Given the description of an element on the screen output the (x, y) to click on. 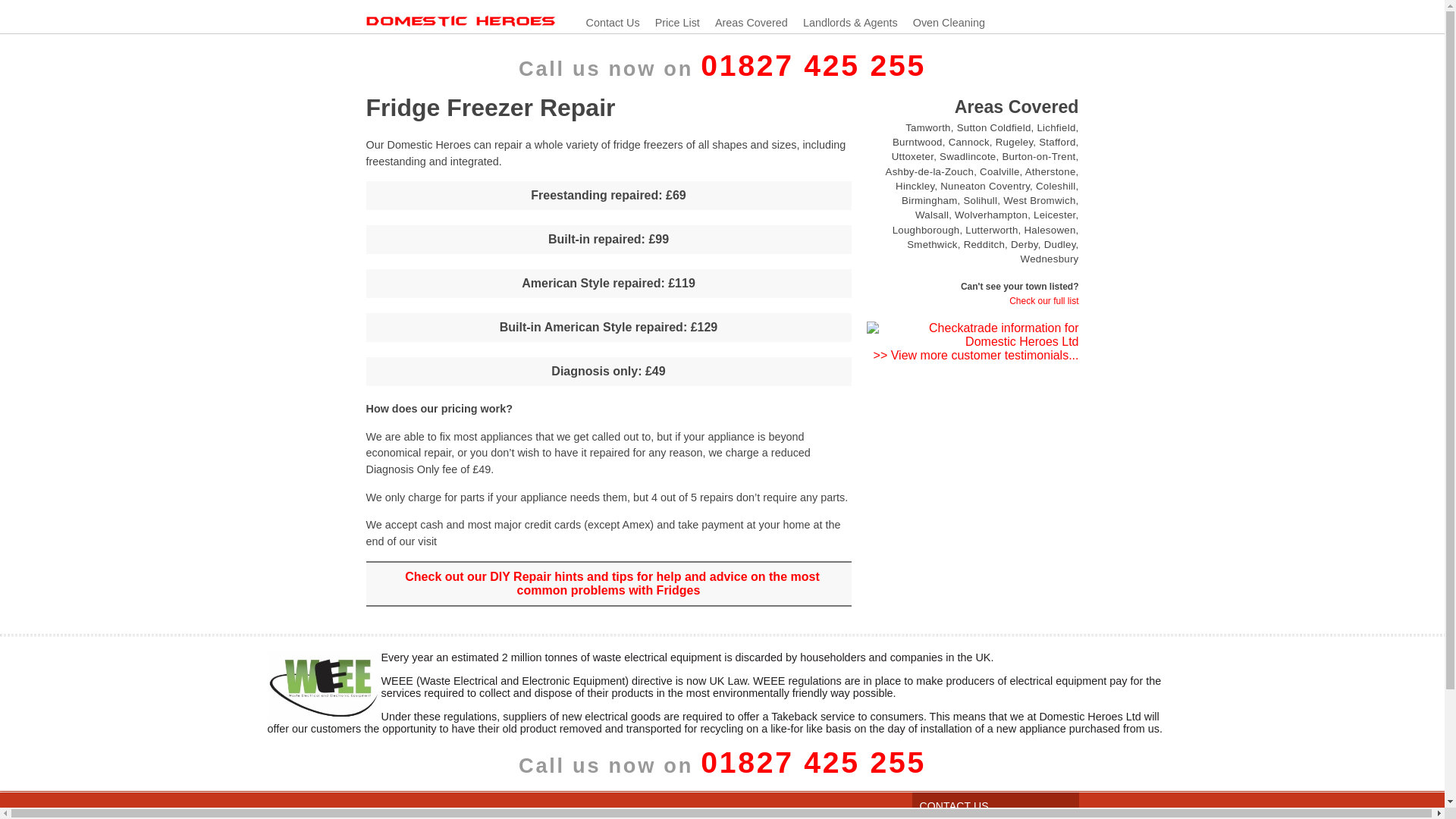
01827 425 255 (813, 764)
Contact Us (604, 22)
Areas Covered (1043, 300)
Price List (670, 22)
Check our full list (1043, 300)
Oven Cleaning (941, 22)
Areas Covered (743, 22)
01827 425 255 (813, 67)
